Given the description of an element on the screen output the (x, y) to click on. 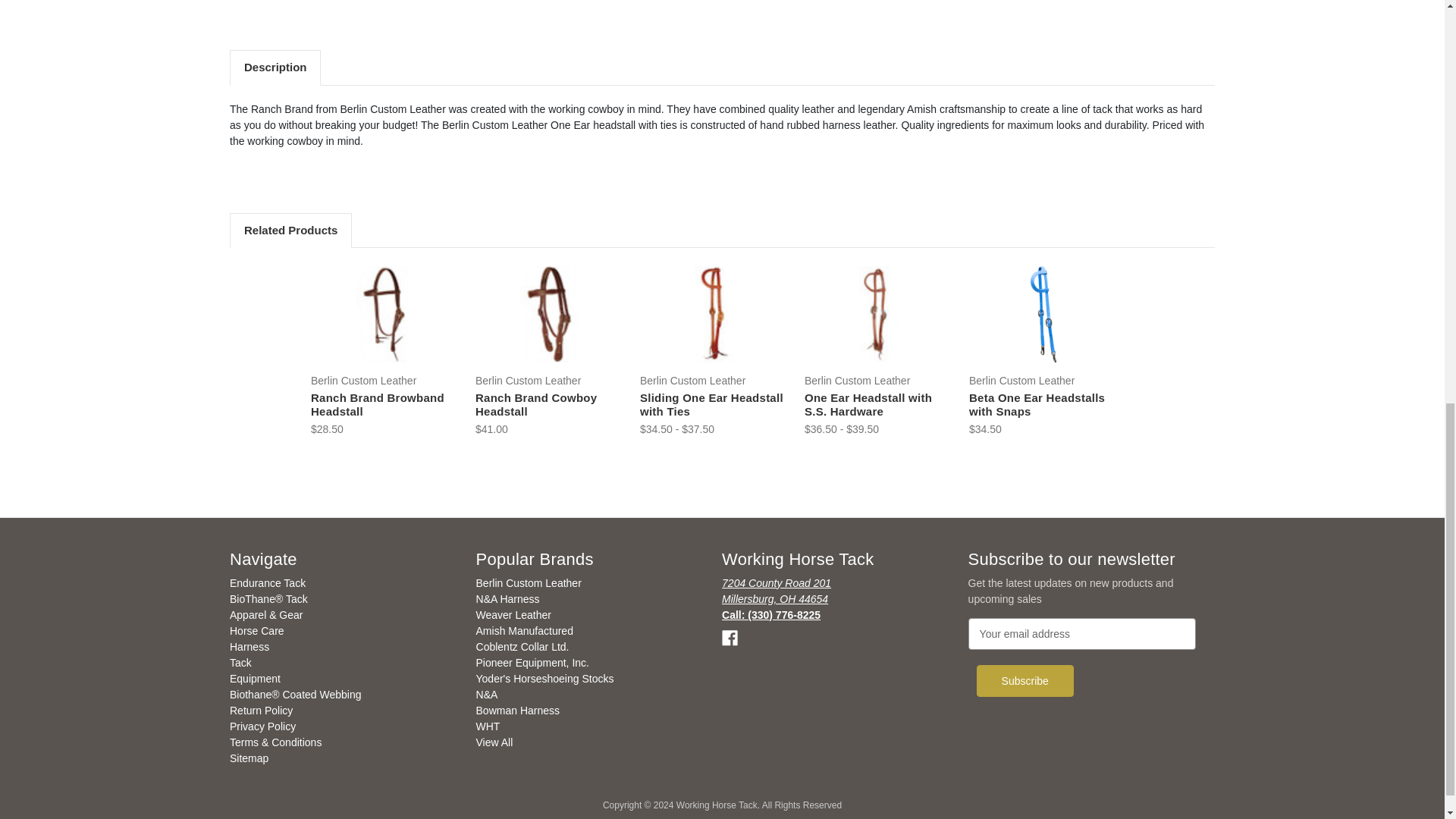
Subscribe (1025, 680)
Ranch Brand Cowboy Headstall (549, 314)
One Ear Headstall with S.S. Hardware (878, 314)
Sliding One Ear Headstall with Ties (714, 314)
Beta One Ear Headstalls with Snaps (1043, 314)
Ranch Brand Browband Headstall (385, 314)
